Given the description of an element on the screen output the (x, y) to click on. 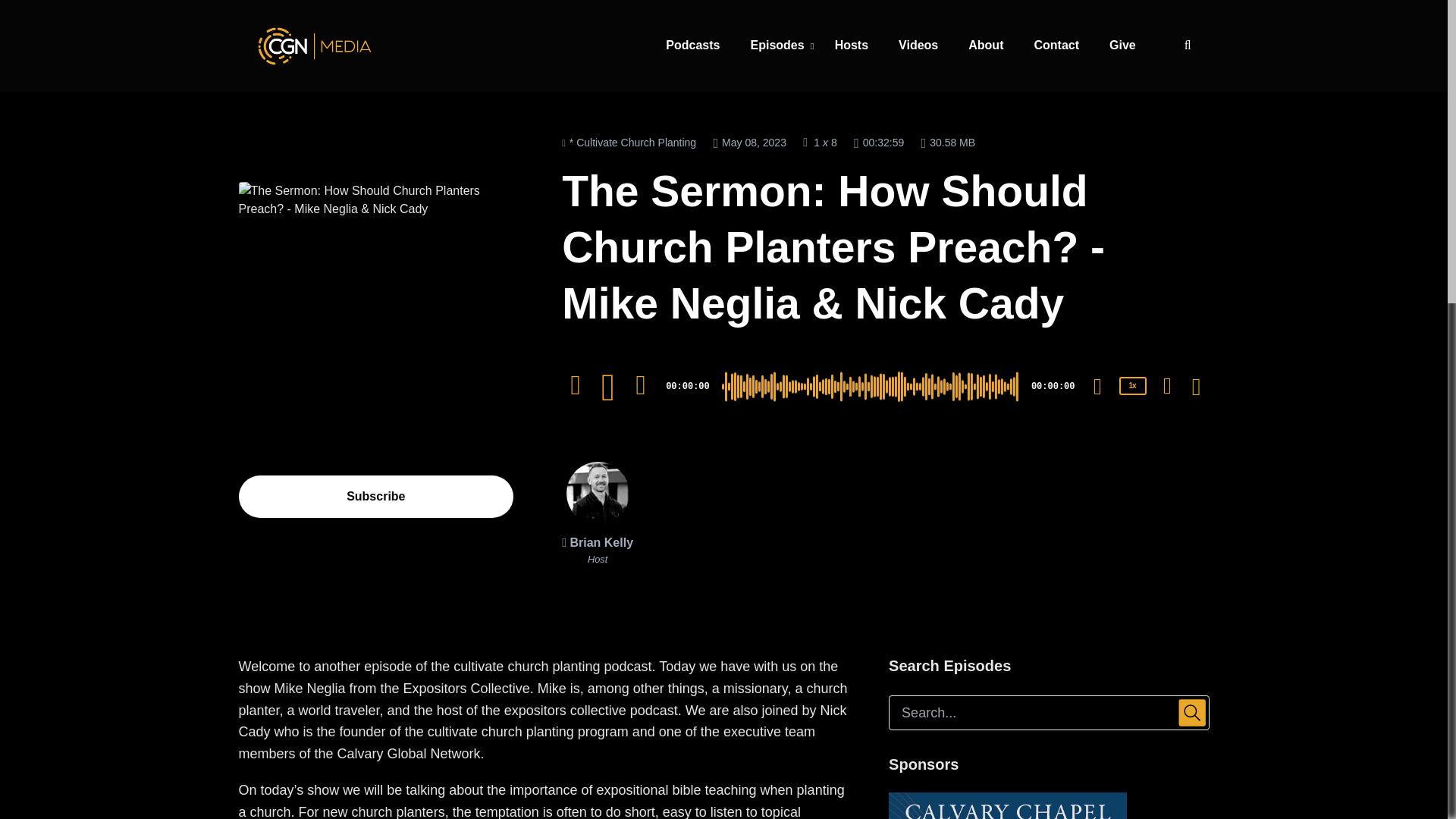
Give (1122, 46)
Videos (918, 46)
Mute (1097, 386)
Episode Duration (878, 141)
Rewind 10 seconds (575, 384)
Subscribe (375, 496)
30 (640, 384)
Play (608, 387)
10 (575, 384)
Episode Weight (948, 141)
